Given the description of an element on the screen output the (x, y) to click on. 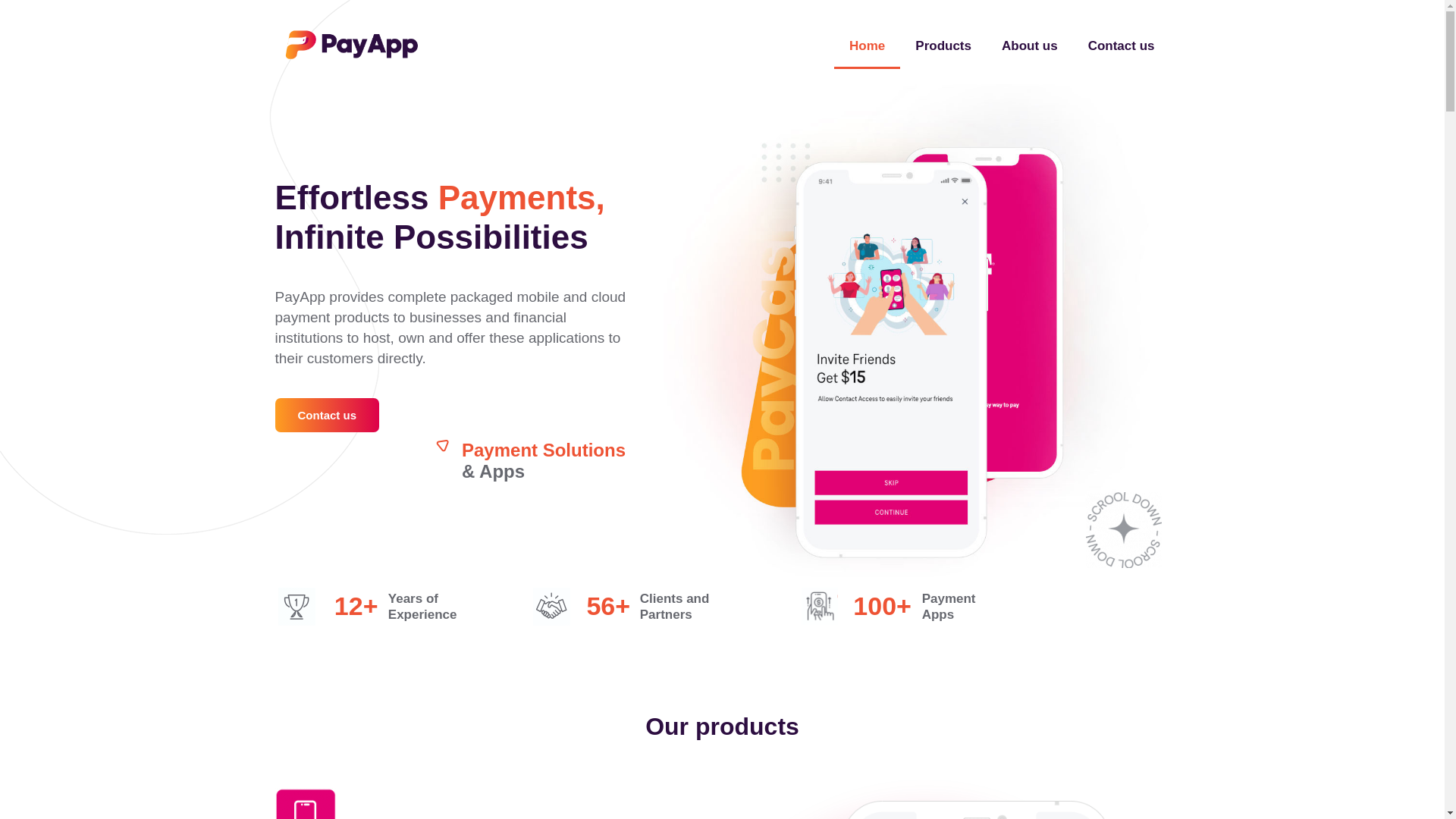
Contact us (326, 415)
About us (1030, 45)
Home (866, 45)
Products (943, 45)
Contact us (1121, 45)
icon001.png (304, 803)
scroll.png (1123, 530)
